Given the description of an element on the screen output the (x, y) to click on. 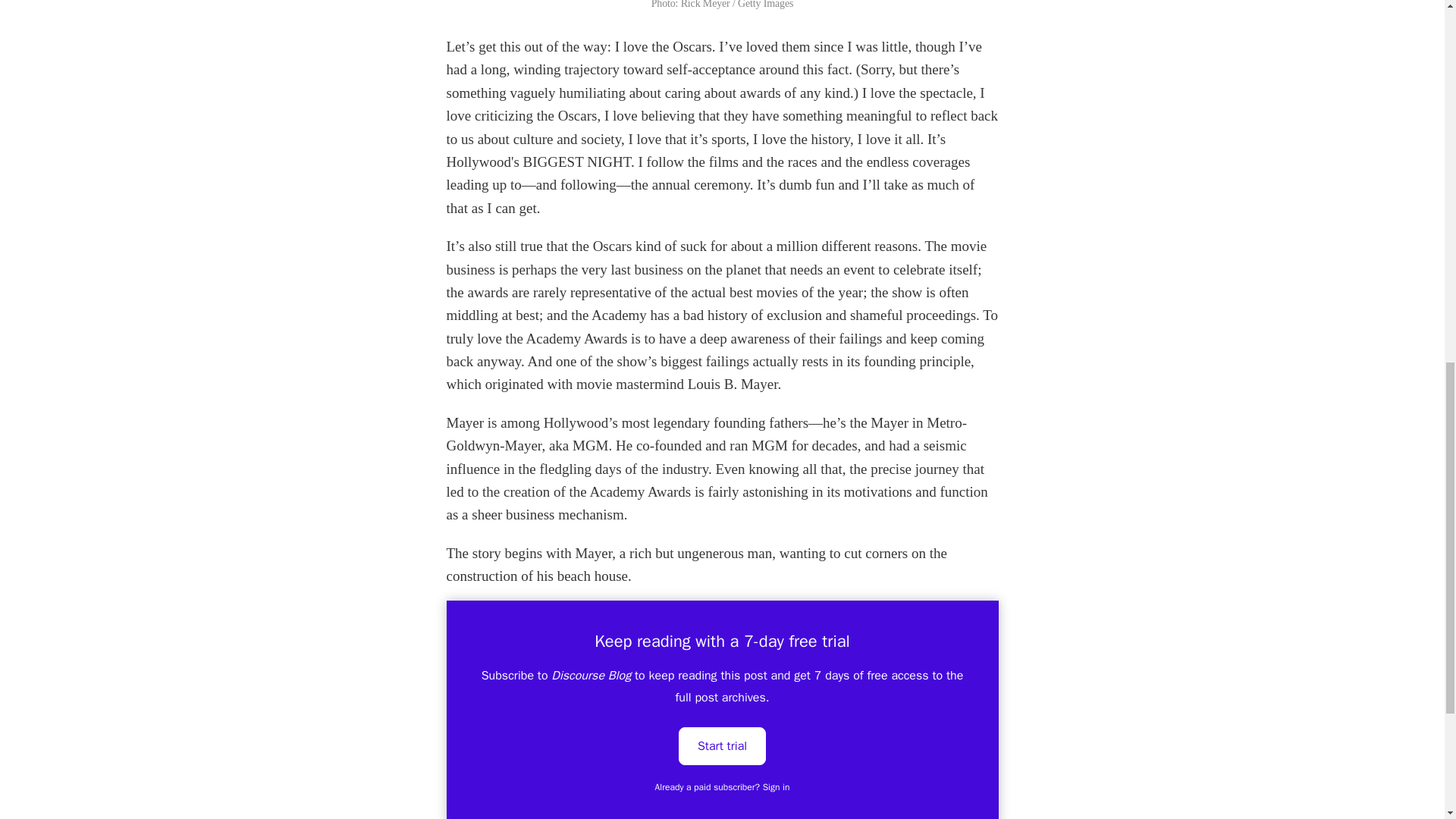
Start trial (721, 745)
Already a paid subscriber? Sign in (722, 787)
Start trial (721, 745)
